Given the description of an element on the screen output the (x, y) to click on. 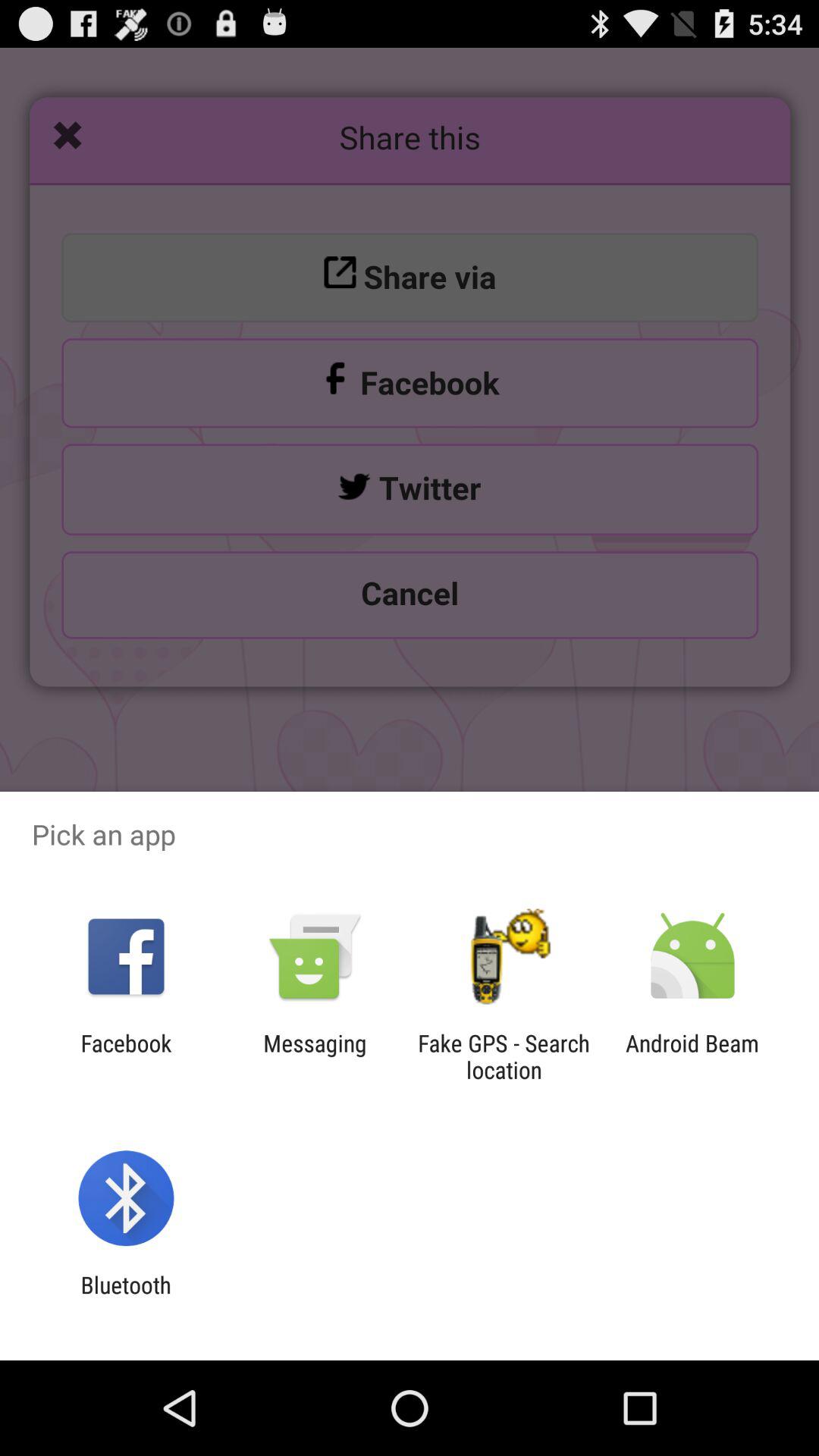
tap the android beam item (692, 1056)
